Given the description of an element on the screen output the (x, y) to click on. 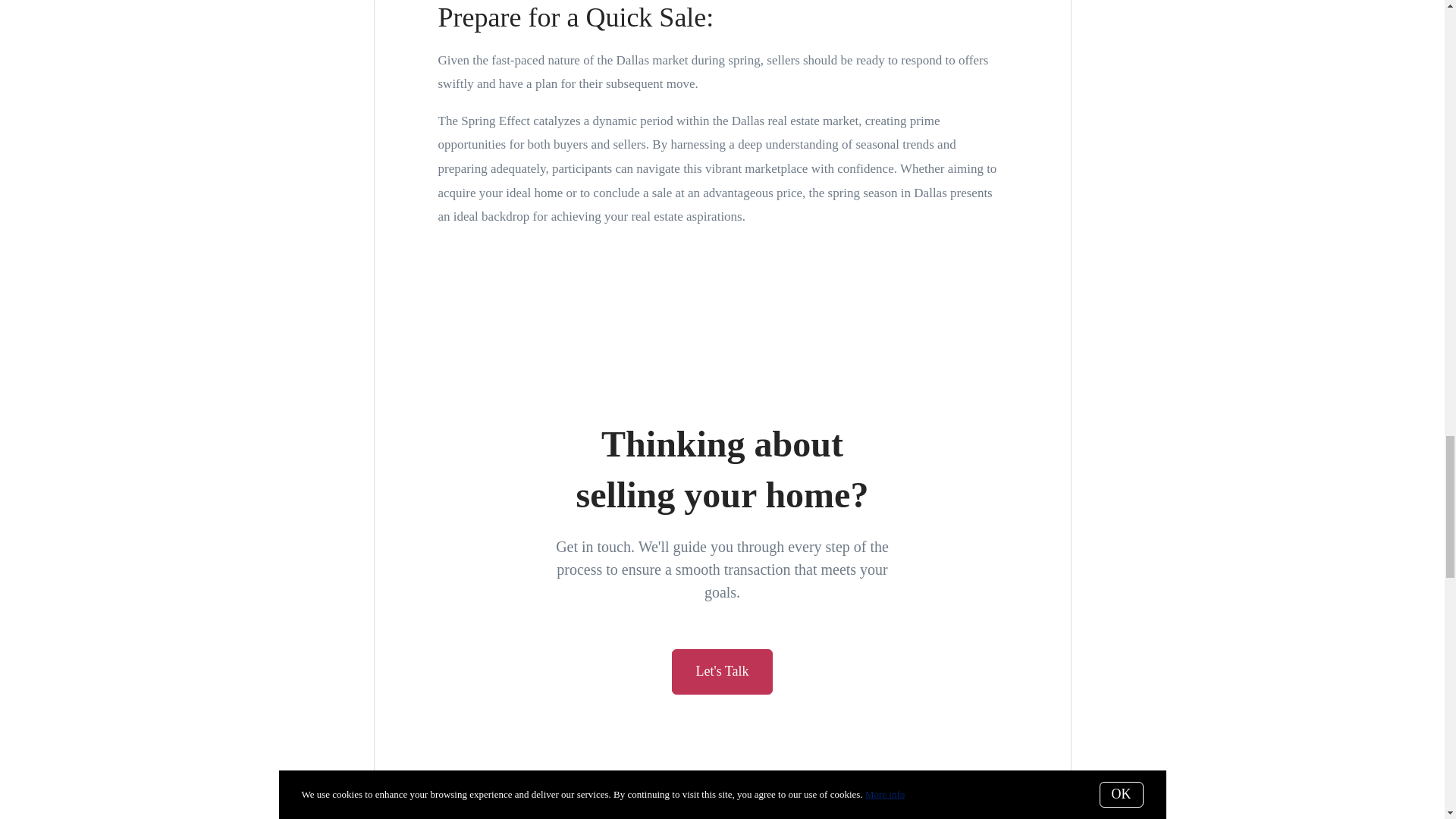
Let's Talk (721, 671)
